Given the description of an element on the screen output the (x, y) to click on. 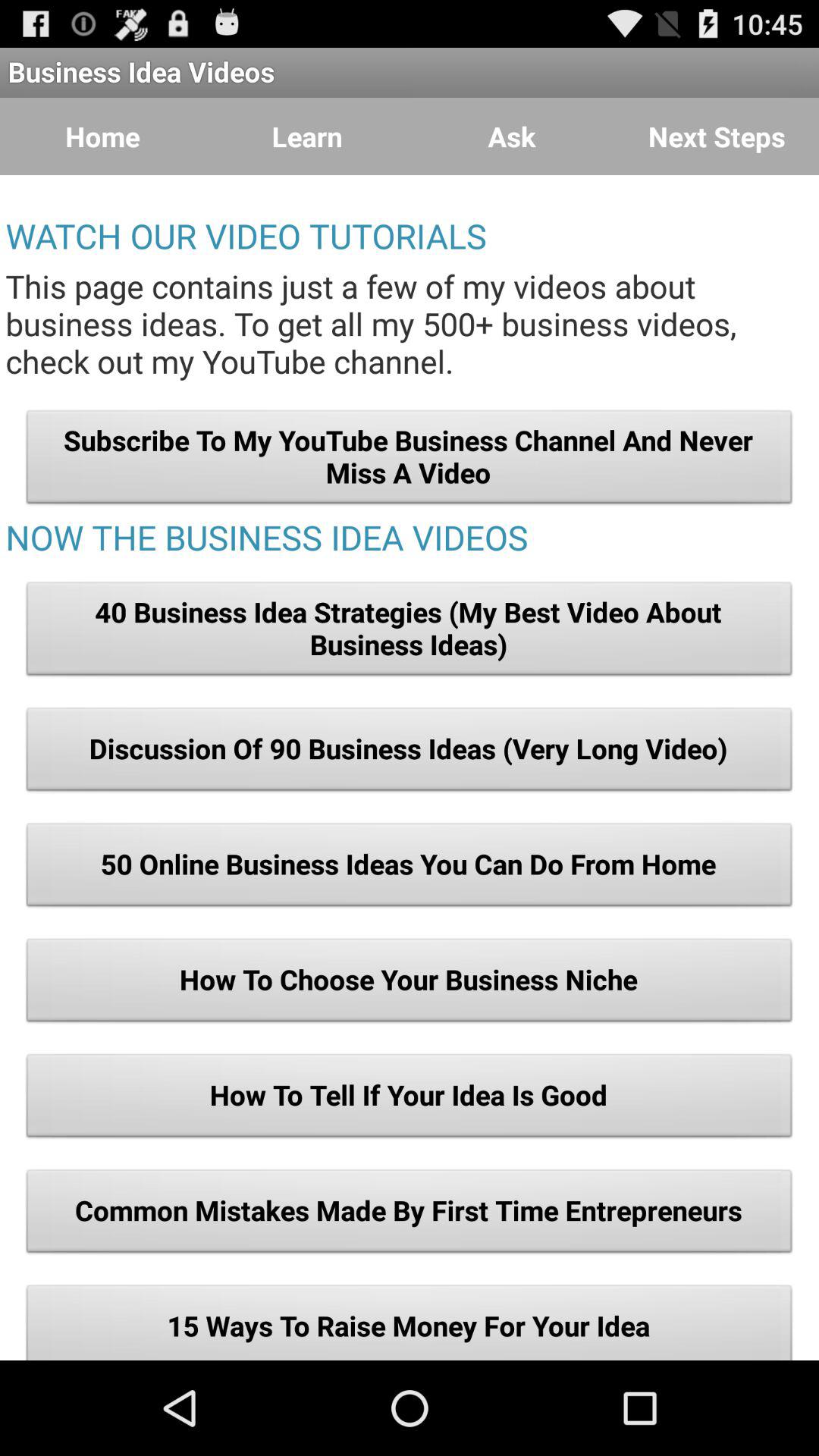
select the button to the left of the next steps (511, 136)
